Given the description of an element on the screen output the (x, y) to click on. 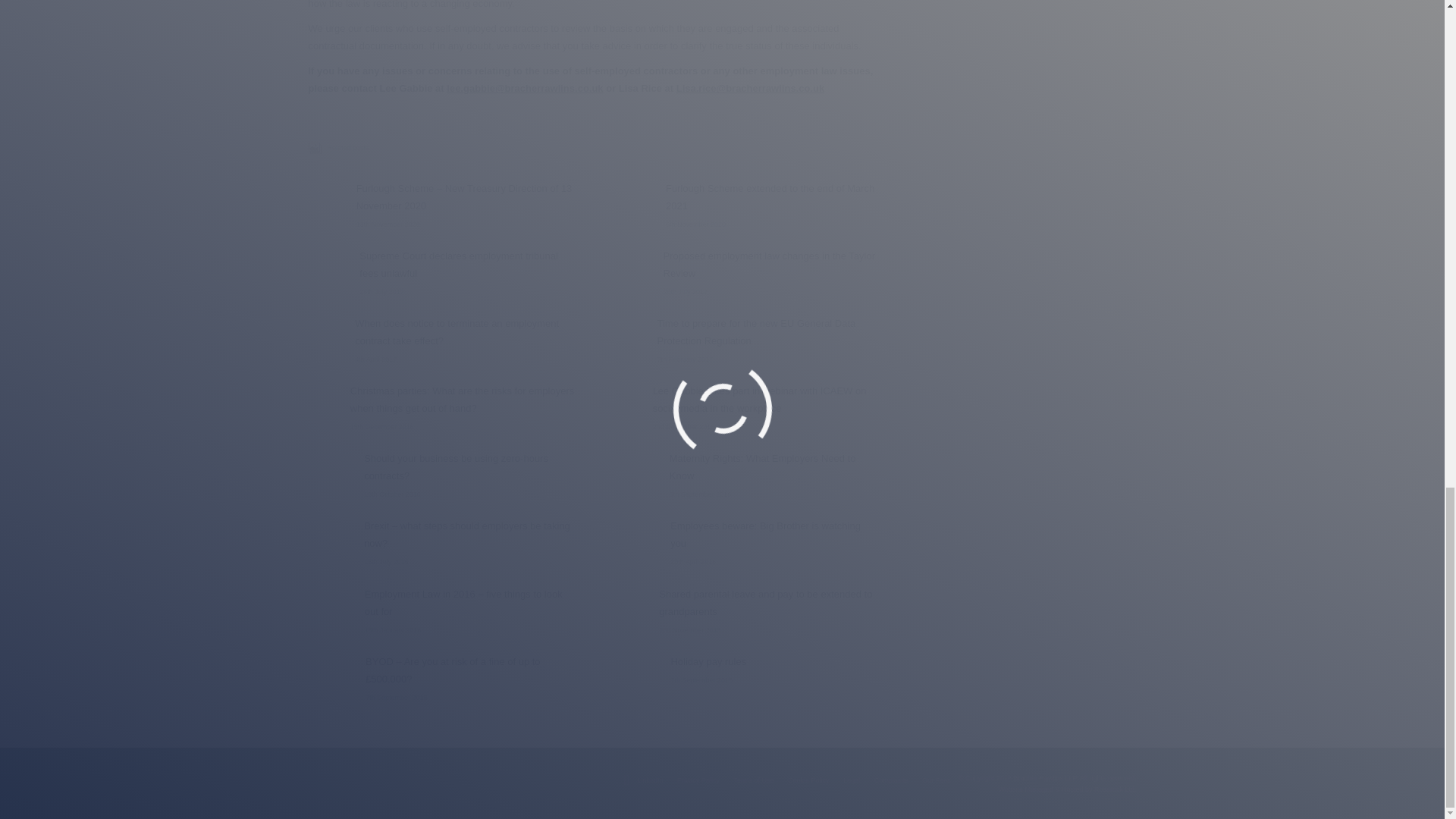
Proposed employment law changes in the Taylor Review (771, 264)
Furlough Scheme extended to the end of March 2021 (771, 196)
Supreme Court declares employment tribunal fees unlawful (467, 264)
